Given the description of an element on the screen output the (x, y) to click on. 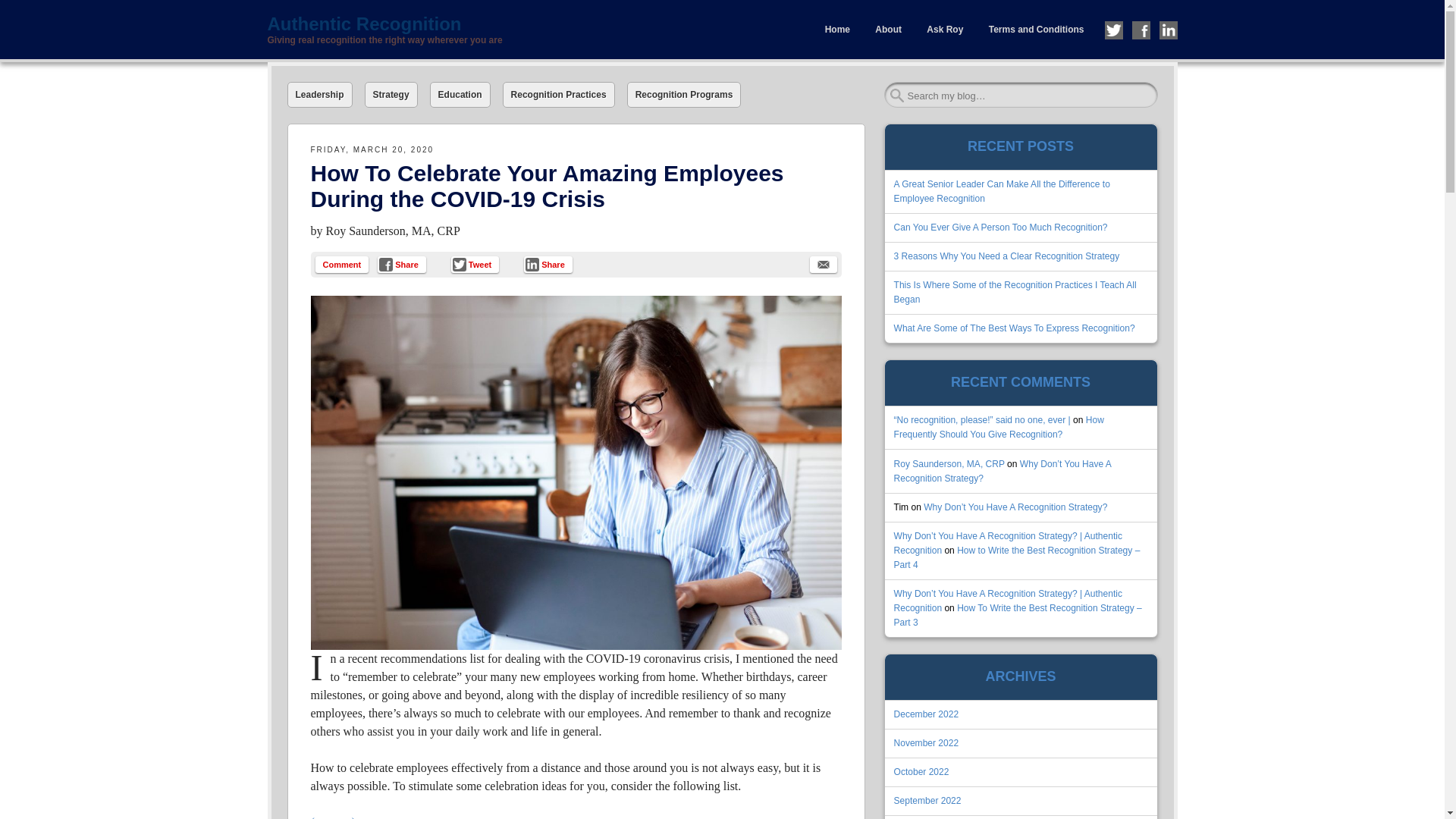
Roy Saunderson, MA, CRP (948, 462)
3 Reasons Why You Need a Clear Recognition Strategy (1006, 255)
Roy Saunderson, MA, CRP (393, 230)
Share on LinkedIn (548, 264)
Tweet this Post (475, 264)
Comment on this Post (342, 264)
About (887, 29)
Follow me on Twitter (1112, 30)
Authentic Recognition (494, 24)
email (823, 264)
